Given the description of an element on the screen output the (x, y) to click on. 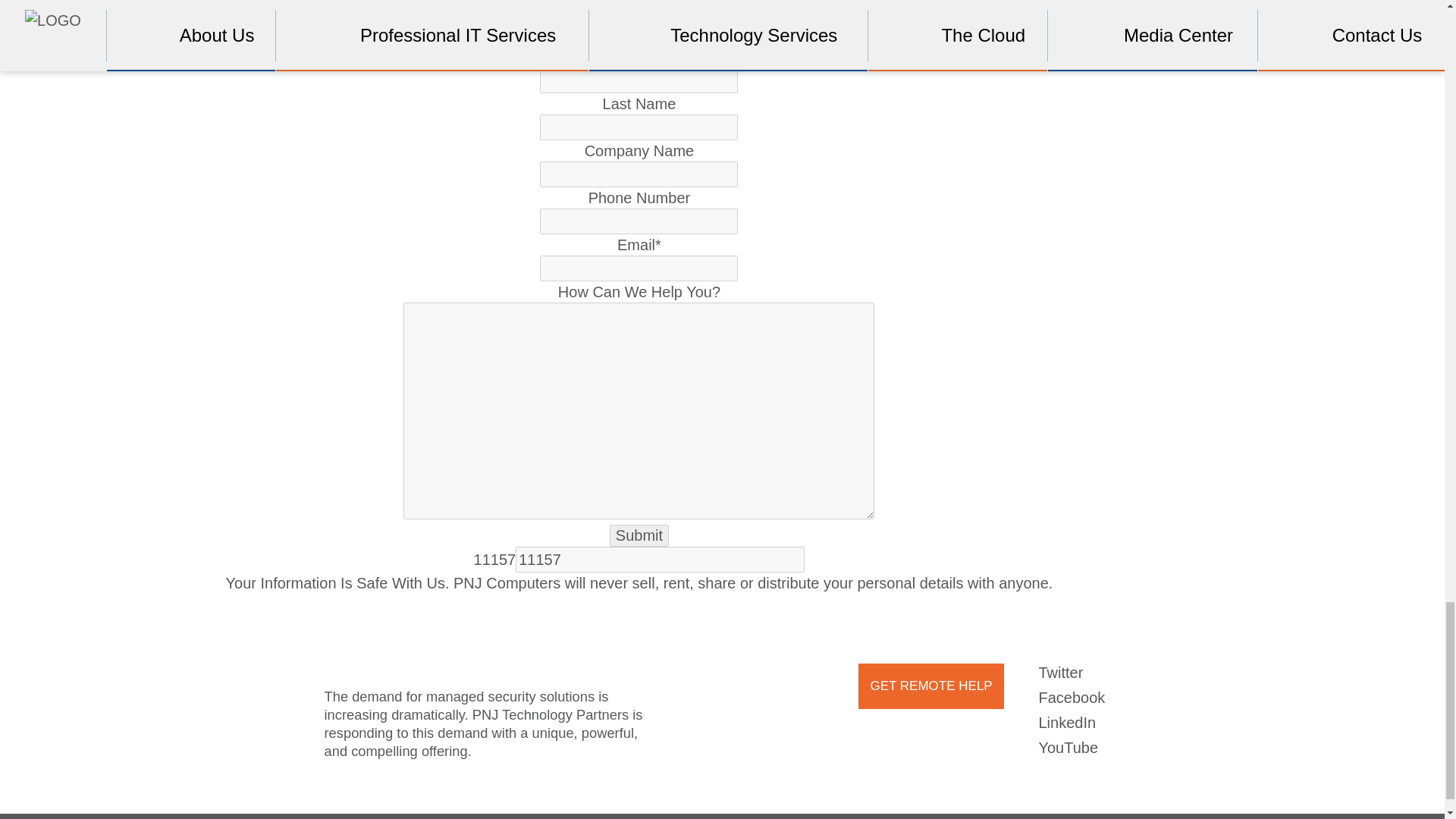
Submit (639, 535)
11157 (660, 559)
